Given the description of an element on the screen output the (x, y) to click on. 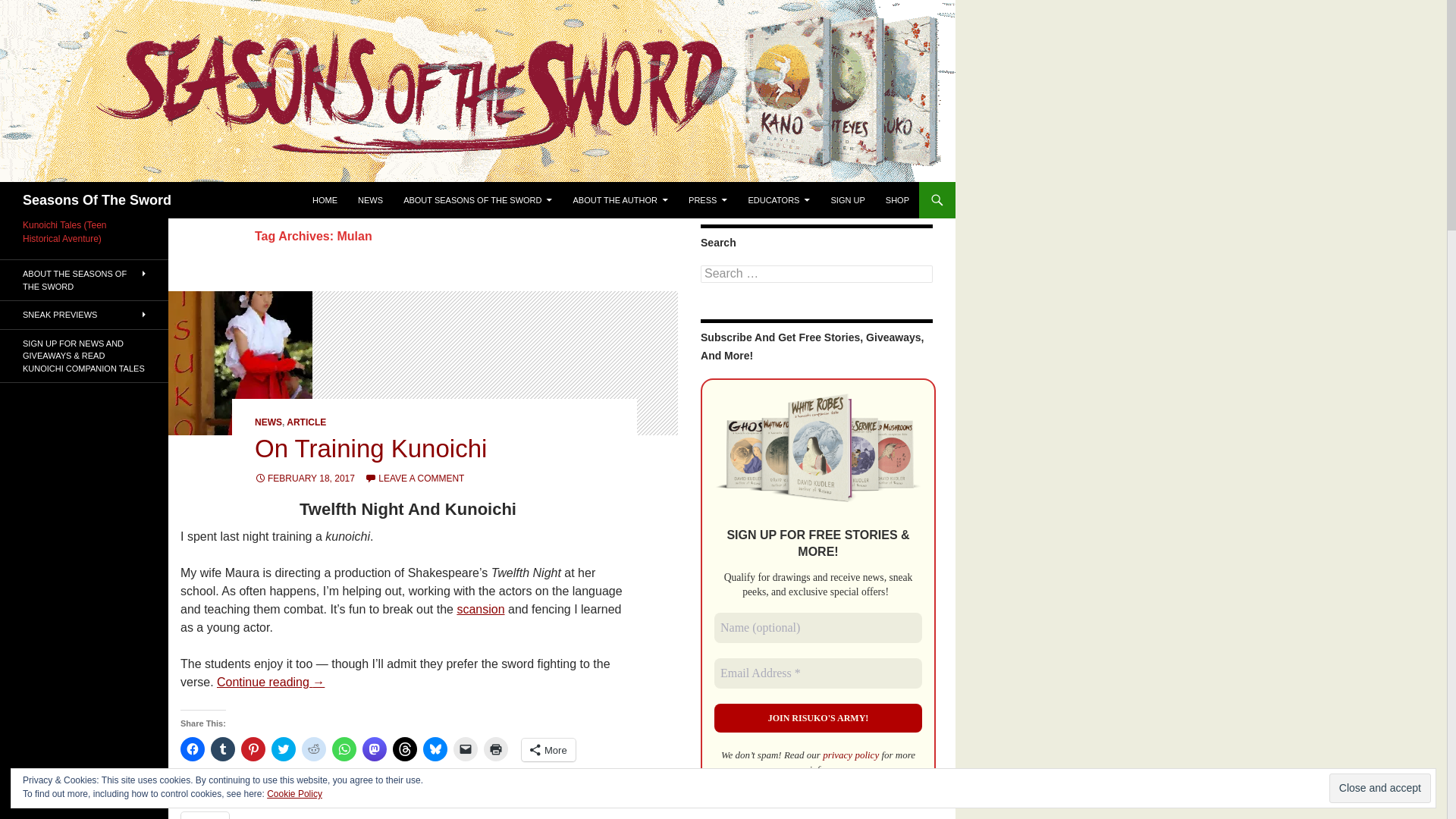
Click to share on WhatsApp (343, 749)
Click to share on Pinterest (252, 749)
Click to share on Mastodon (374, 749)
HOME (324, 199)
NEWS (268, 421)
Click to print (495, 749)
NEWS (370, 199)
Click to email a link to a friend (464, 749)
Click to share on Twitter (282, 749)
SHOP (897, 199)
PRESS (707, 199)
Close and accept (1380, 788)
ABOUT THE AUTHOR (620, 199)
ABOUT SEASONS OF THE SWORD (477, 199)
